Given the description of an element on the screen output the (x, y) to click on. 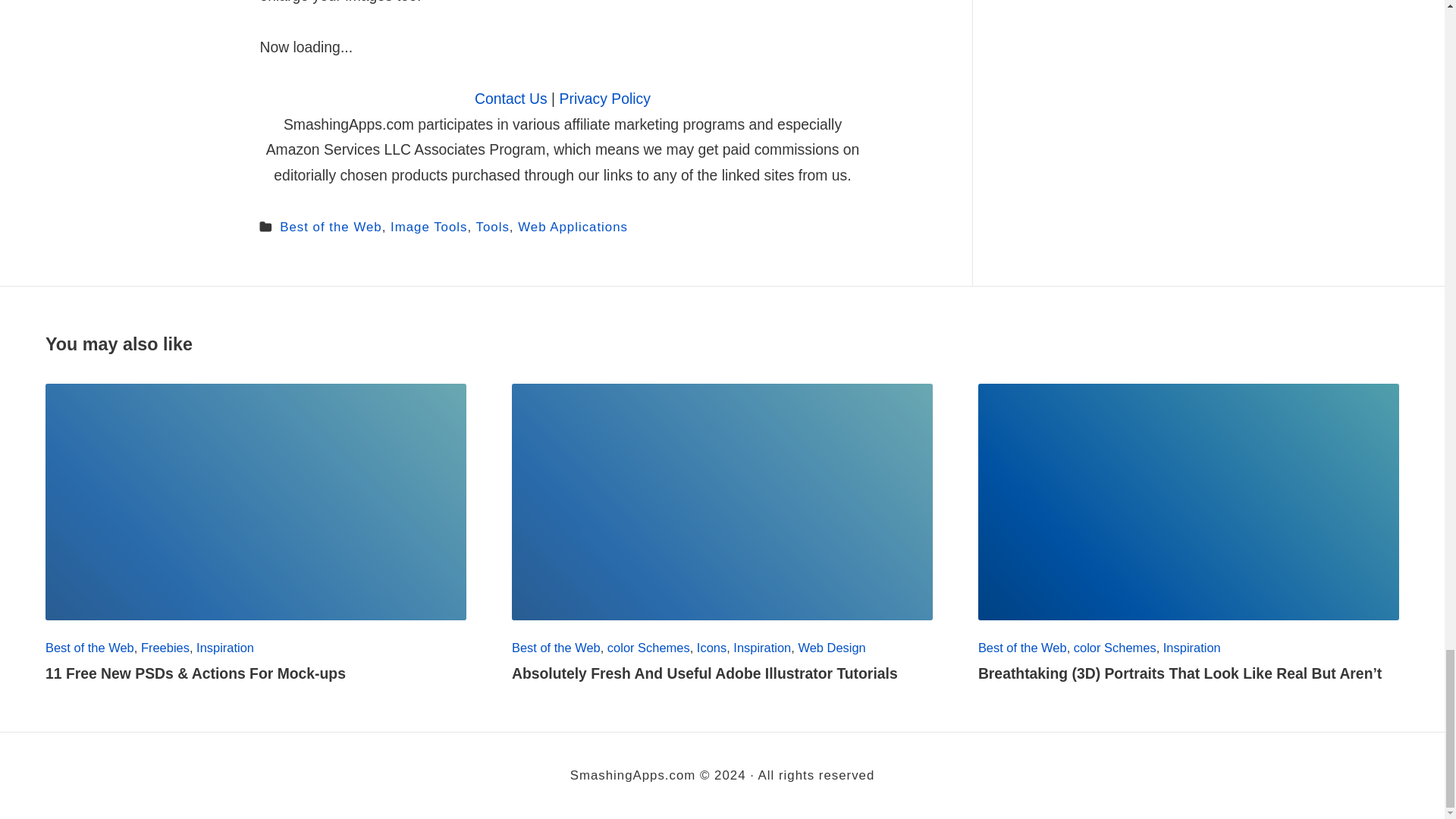
Contact Us (510, 98)
Image Tools (428, 227)
Web Applications (572, 227)
Tools (492, 227)
Privacy Policy (604, 98)
Best of the Web (330, 227)
